Given the description of an element on the screen output the (x, y) to click on. 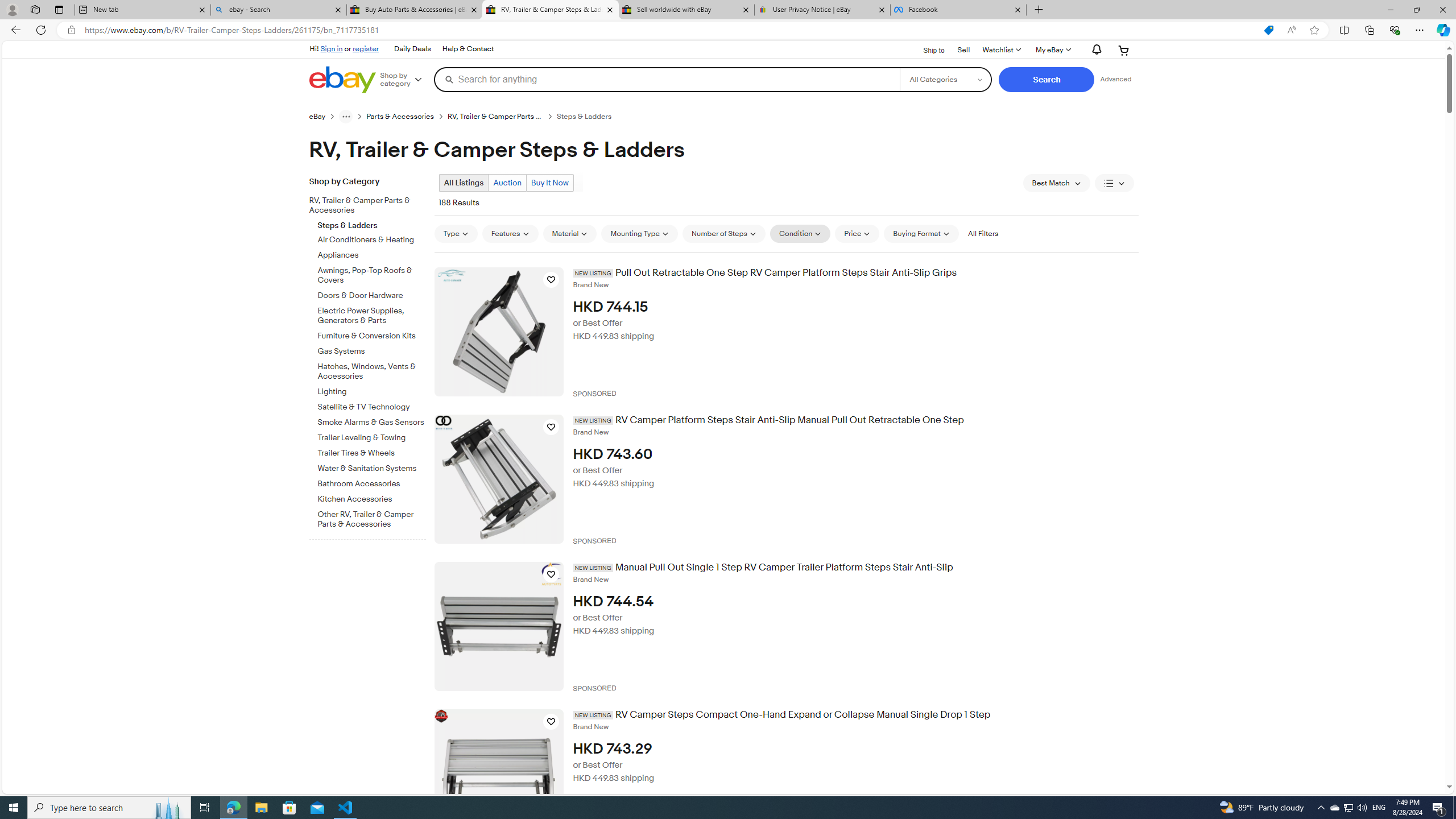
Appliances (371, 253)
